Given the description of an element on the screen output the (x, y) to click on. 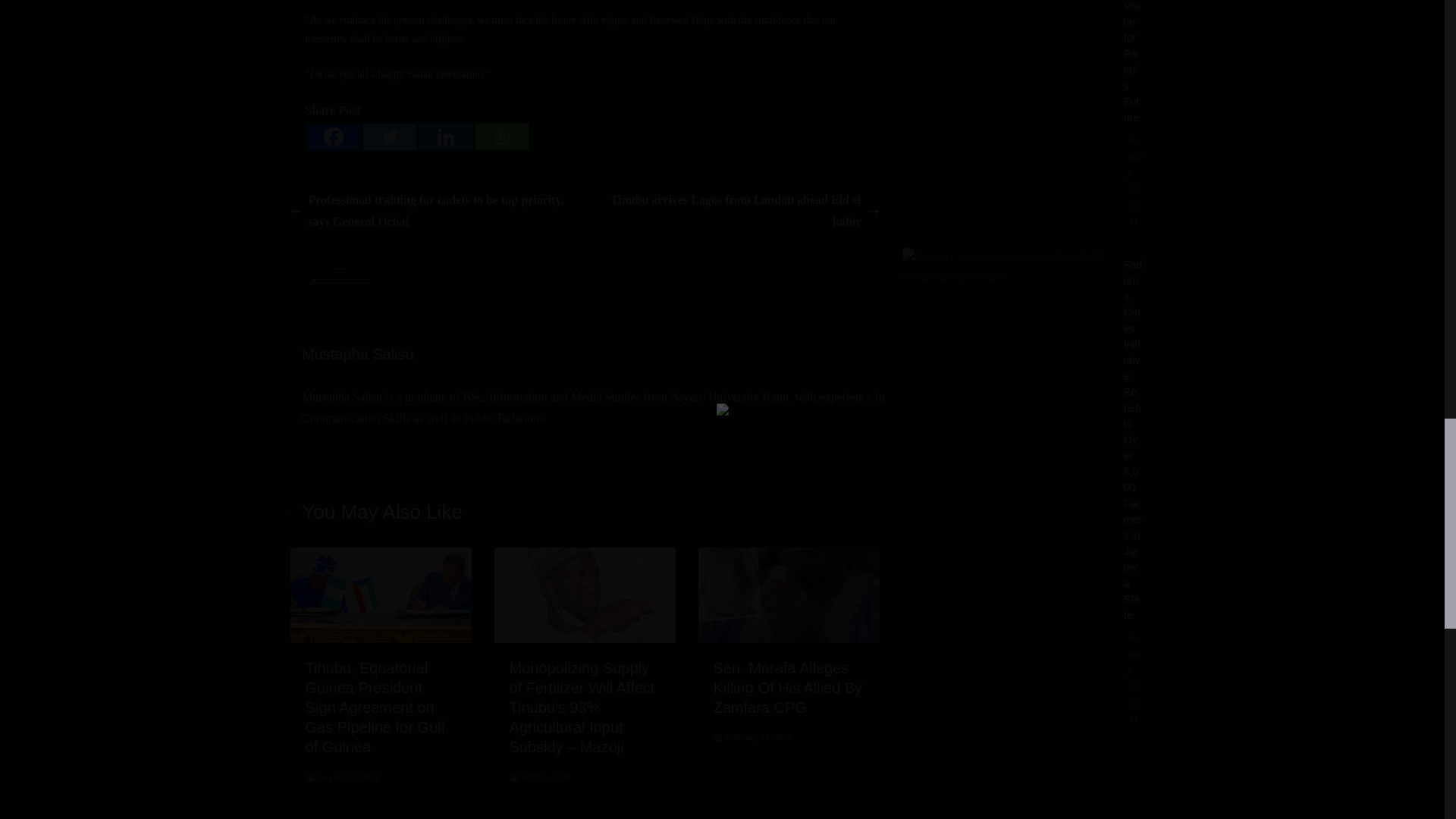
10:41 am (340, 777)
August 15, 2024 (340, 777)
Sen. Marafa Alleges Killing Of His Allied By Zamfara CPG (787, 687)
Twitter (388, 136)
February 13, 2024 (752, 737)
Whatsapp (500, 136)
Linkedin (445, 136)
